Given the description of an element on the screen output the (x, y) to click on. 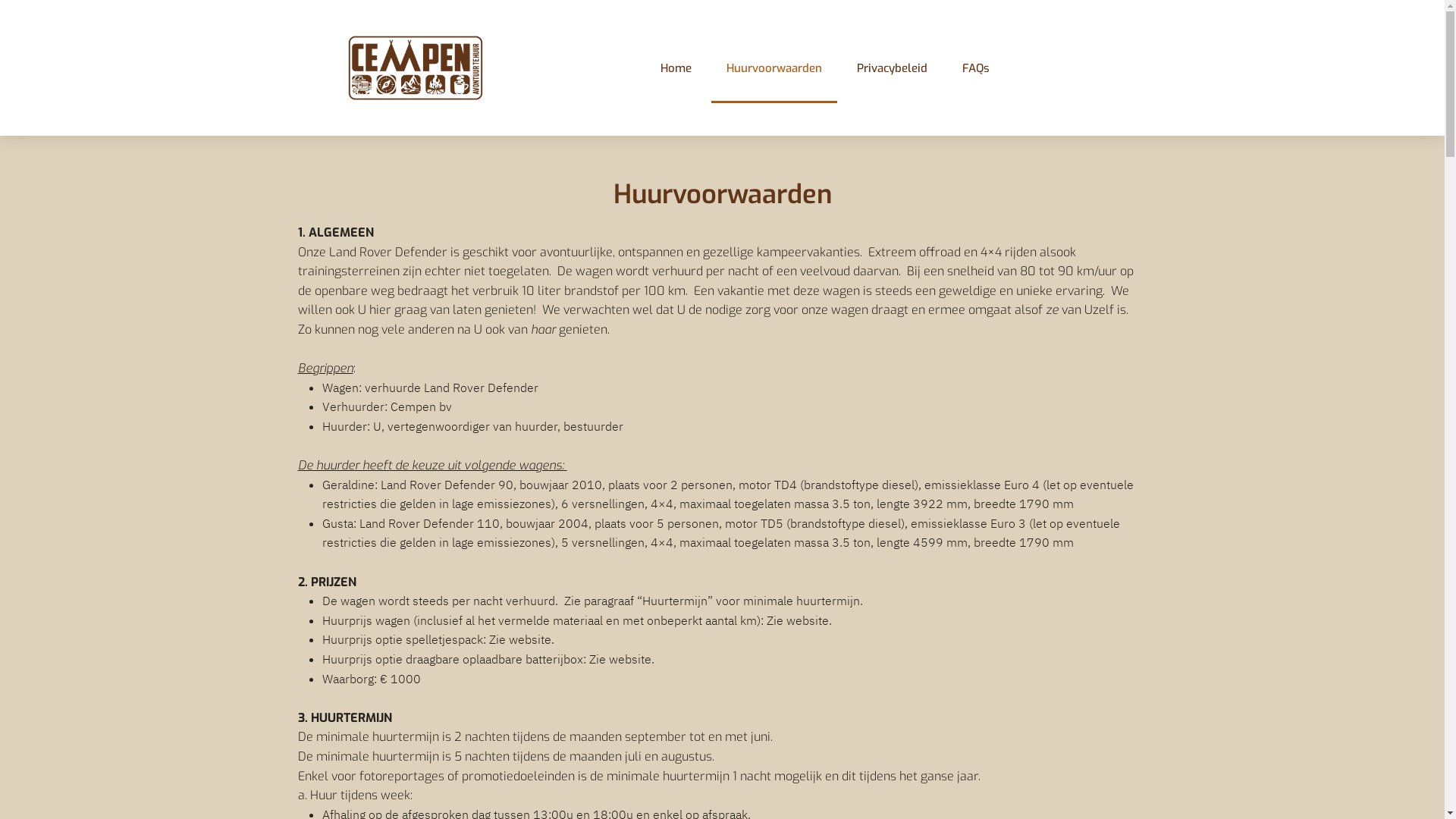
Home Element type: text (675, 68)
Huurvoorwaarden Element type: text (774, 68)
FAQs Element type: text (975, 68)
Privacybeleid Element type: text (891, 68)
